Given the description of an element on the screen output the (x, y) to click on. 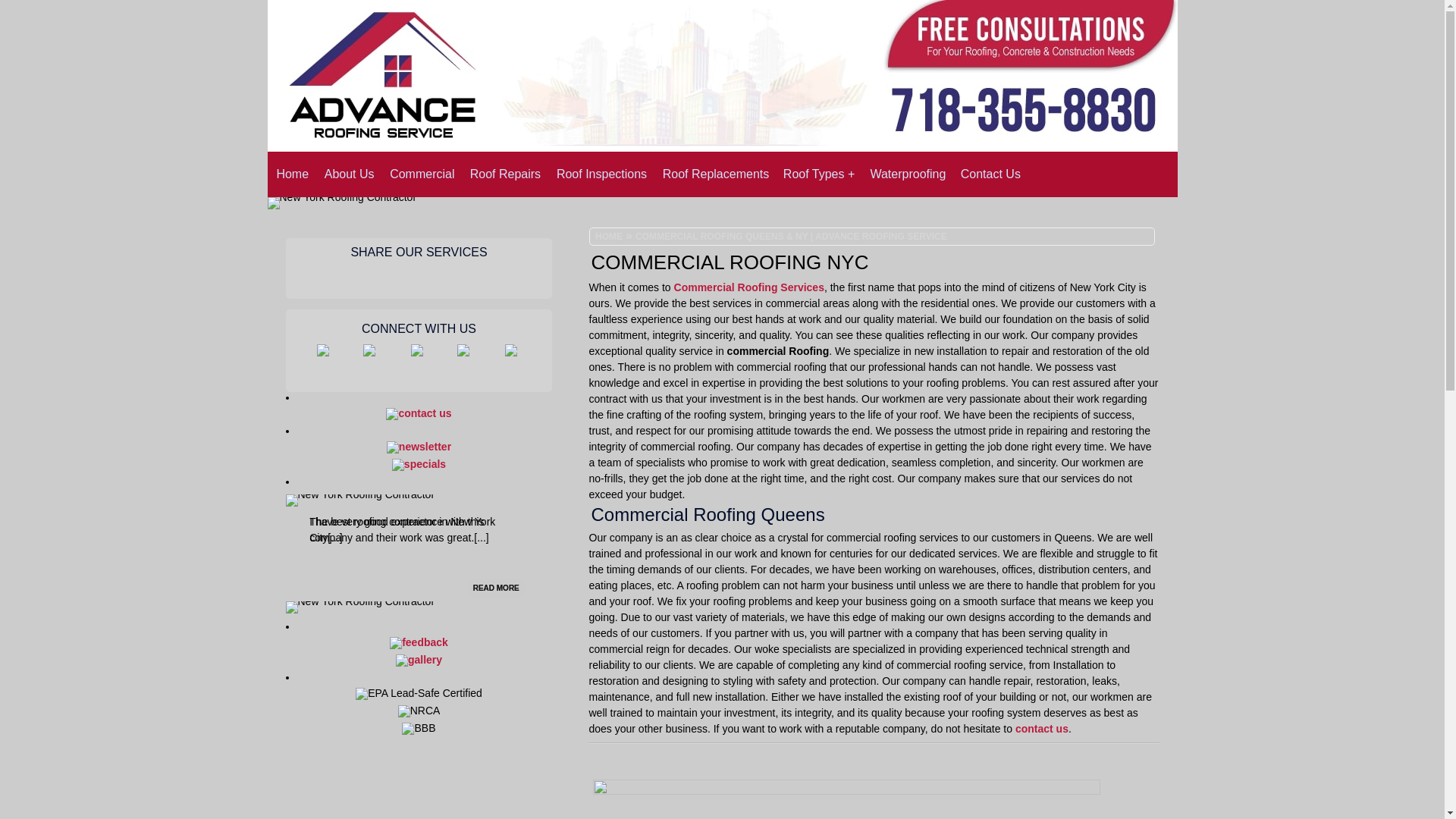
Commercial Roofing Services (749, 287)
About Us (347, 174)
Home (290, 174)
Commercial (419, 174)
HOME (614, 236)
Contact Us (988, 174)
contact us (1041, 728)
Waterproofing (904, 174)
Roof Replacements (712, 174)
Roof Inspections (597, 174)
Roof Repairs (503, 174)
